Given the description of an element on the screen output the (x, y) to click on. 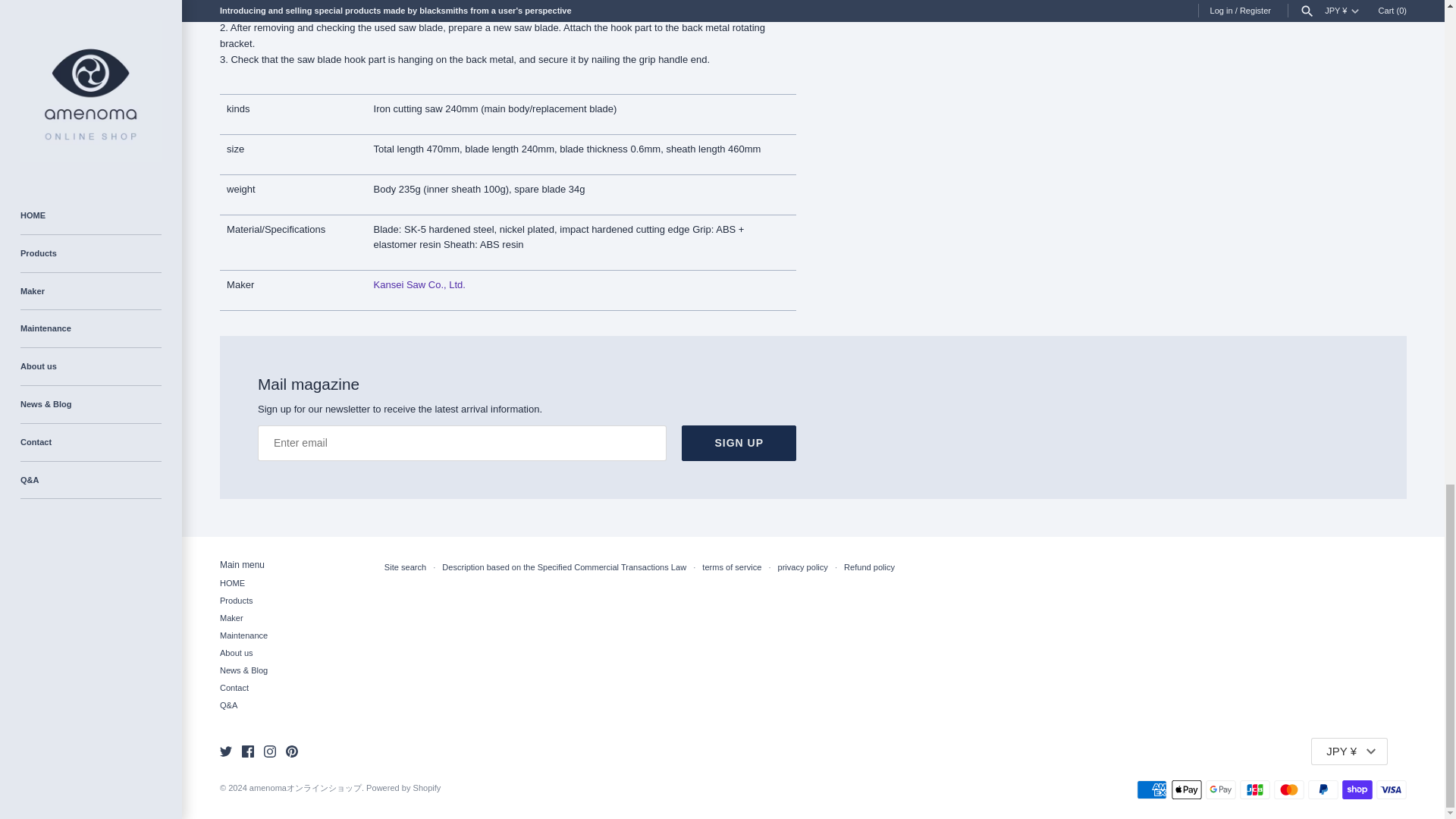
Shop Pay (1357, 789)
Facebook (247, 751)
Pinterest (291, 751)
Mastercard (1289, 789)
Google Pay (1220, 789)
PayPal (1322, 789)
Apple Pay (1187, 789)
Kansai saw, Yamakichi, shuriken, grass flute, tipped saw (419, 284)
Instagram (269, 751)
Visa (1390, 789)
Twitter (225, 751)
JCB (1254, 789)
American Express (1152, 789)
